Given the description of an element on the screen output the (x, y) to click on. 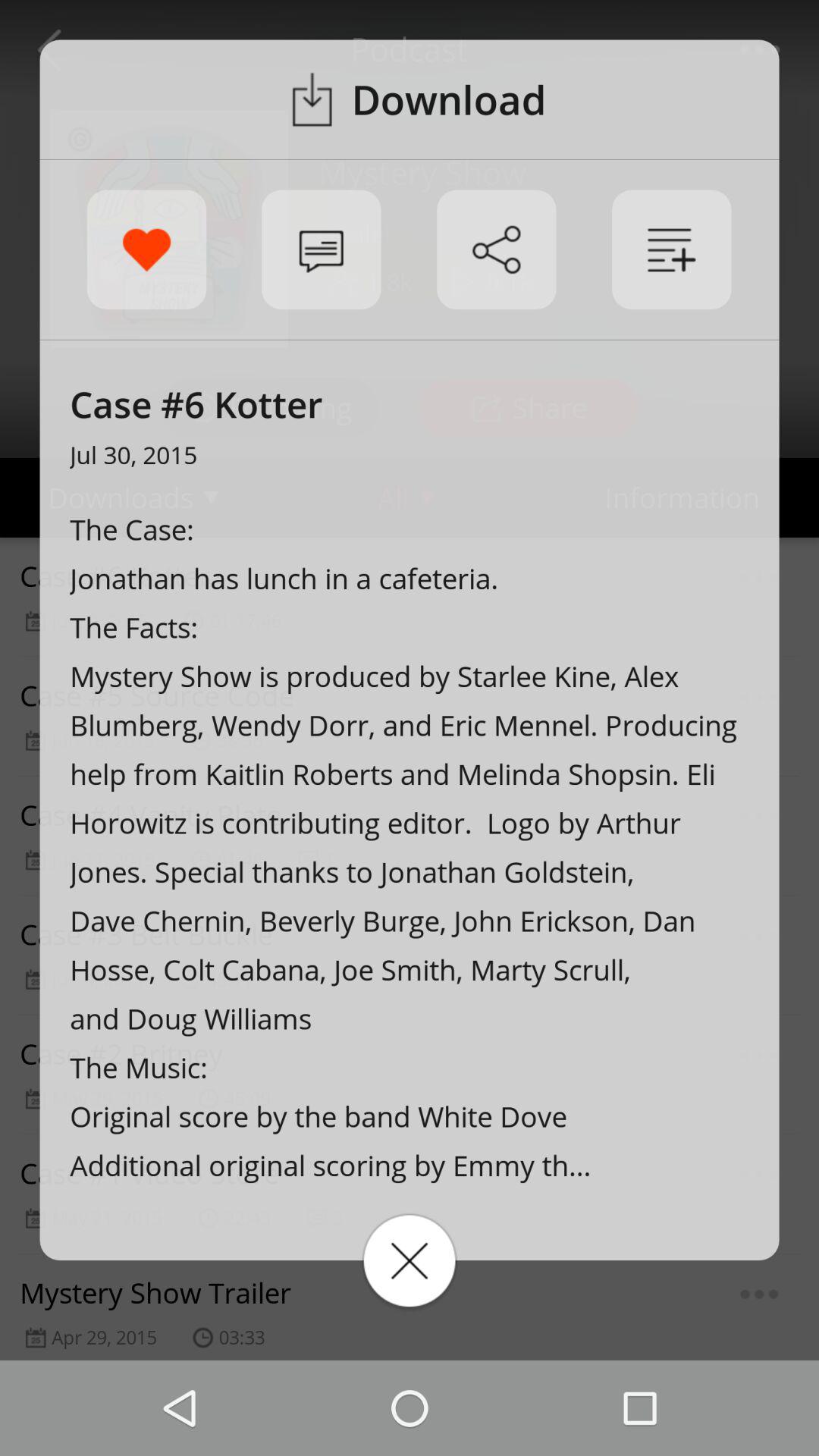
share button (496, 249)
